Given the description of an element on the screen output the (x, y) to click on. 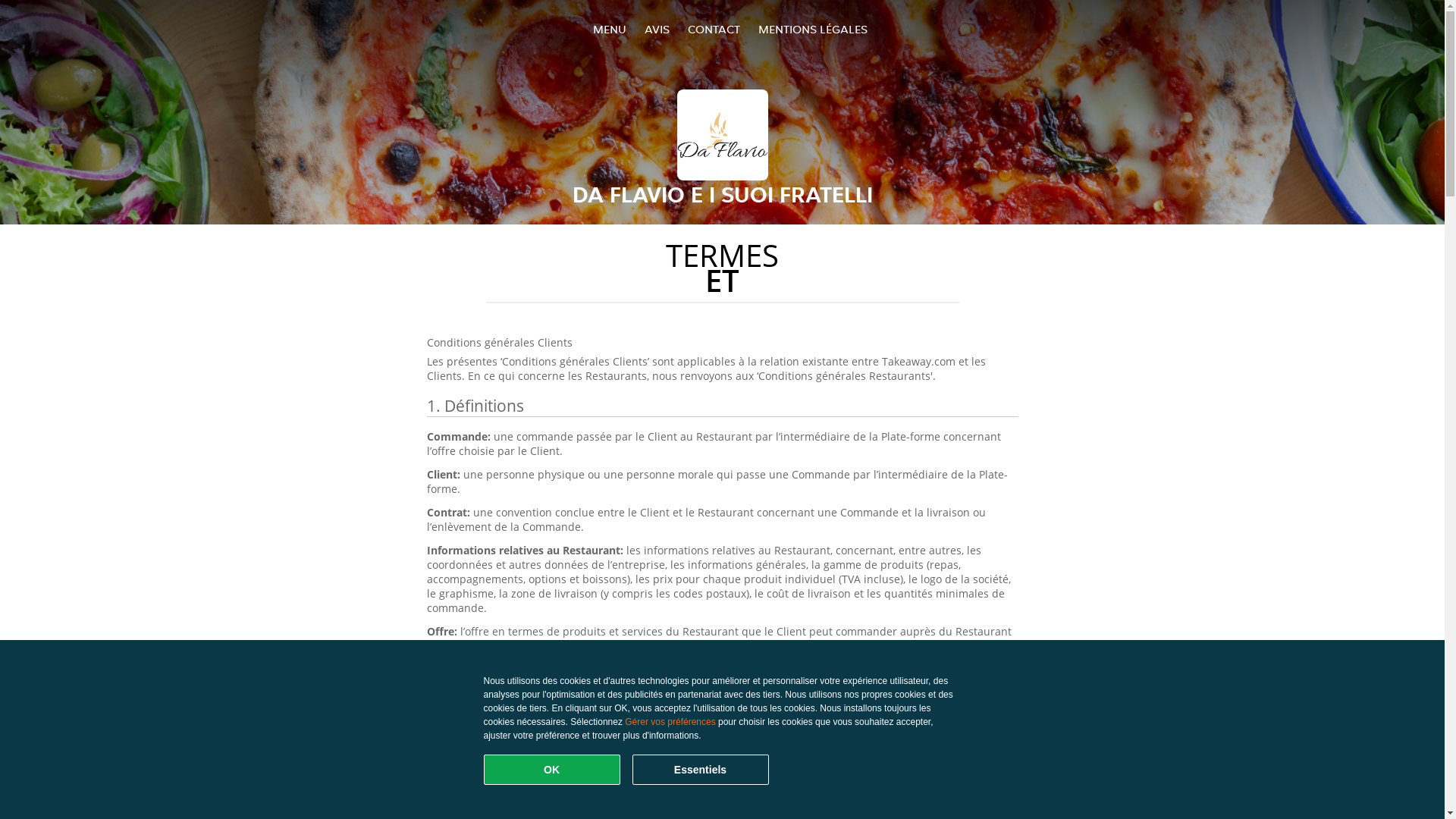
CONTACT Element type: text (713, 29)
Essentiels Element type: text (700, 769)
AVIS Element type: text (656, 29)
MENU Element type: text (609, 29)
OK Element type: text (551, 769)
